Given the description of an element on the screen output the (x, y) to click on. 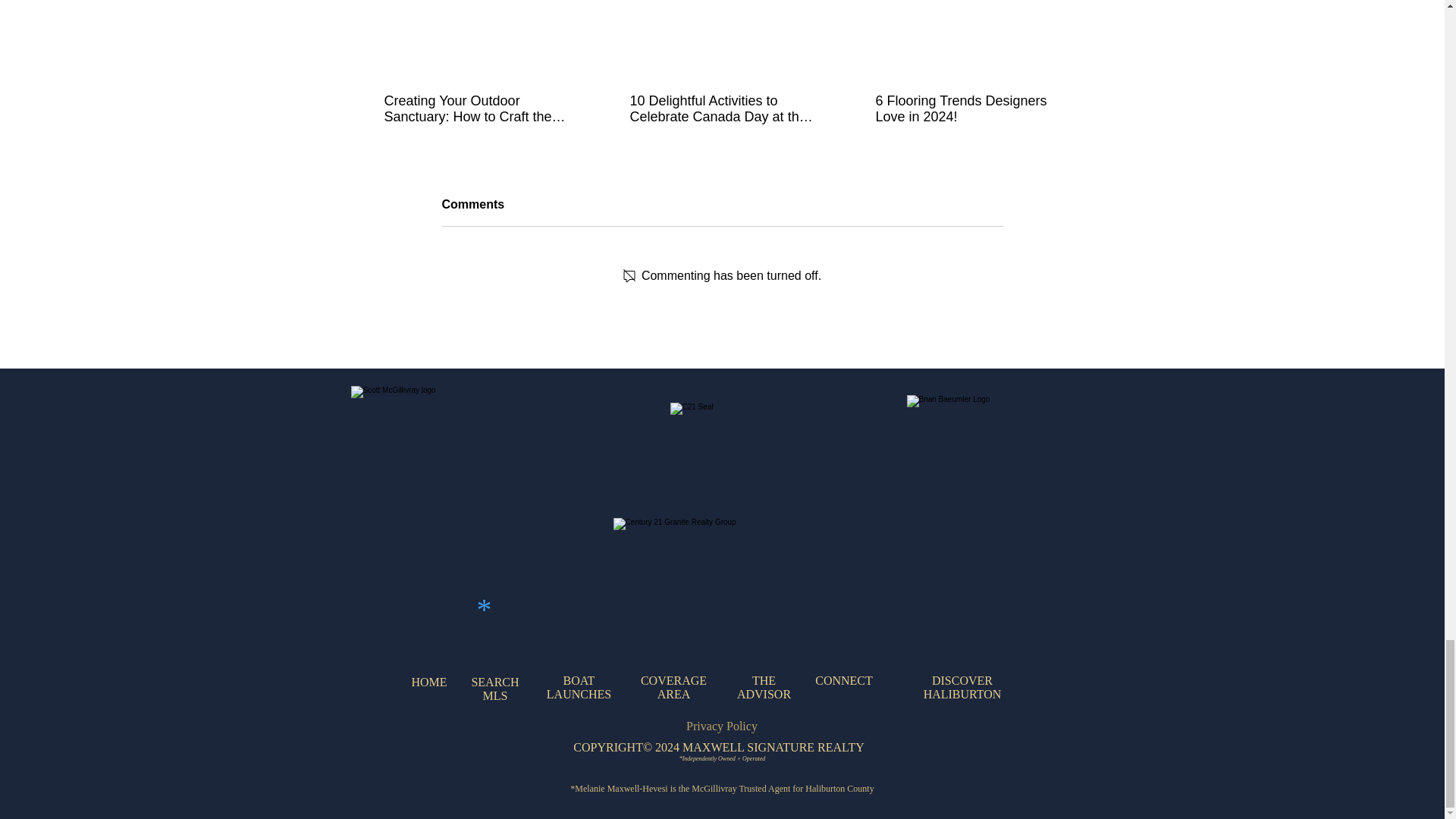
CONNECT (843, 680)
SEARCH MLS (494, 688)
COVERAGE AREA (673, 687)
6 Flooring Trends Designers Love in 2024! (966, 109)
DISCOVER  HALIBURTON  (963, 687)
HOME (428, 681)
Privacy Policy (721, 725)
BOAT LAUNCHES (579, 687)
THE ADVISOR (763, 687)
